Given the description of an element on the screen output the (x, y) to click on. 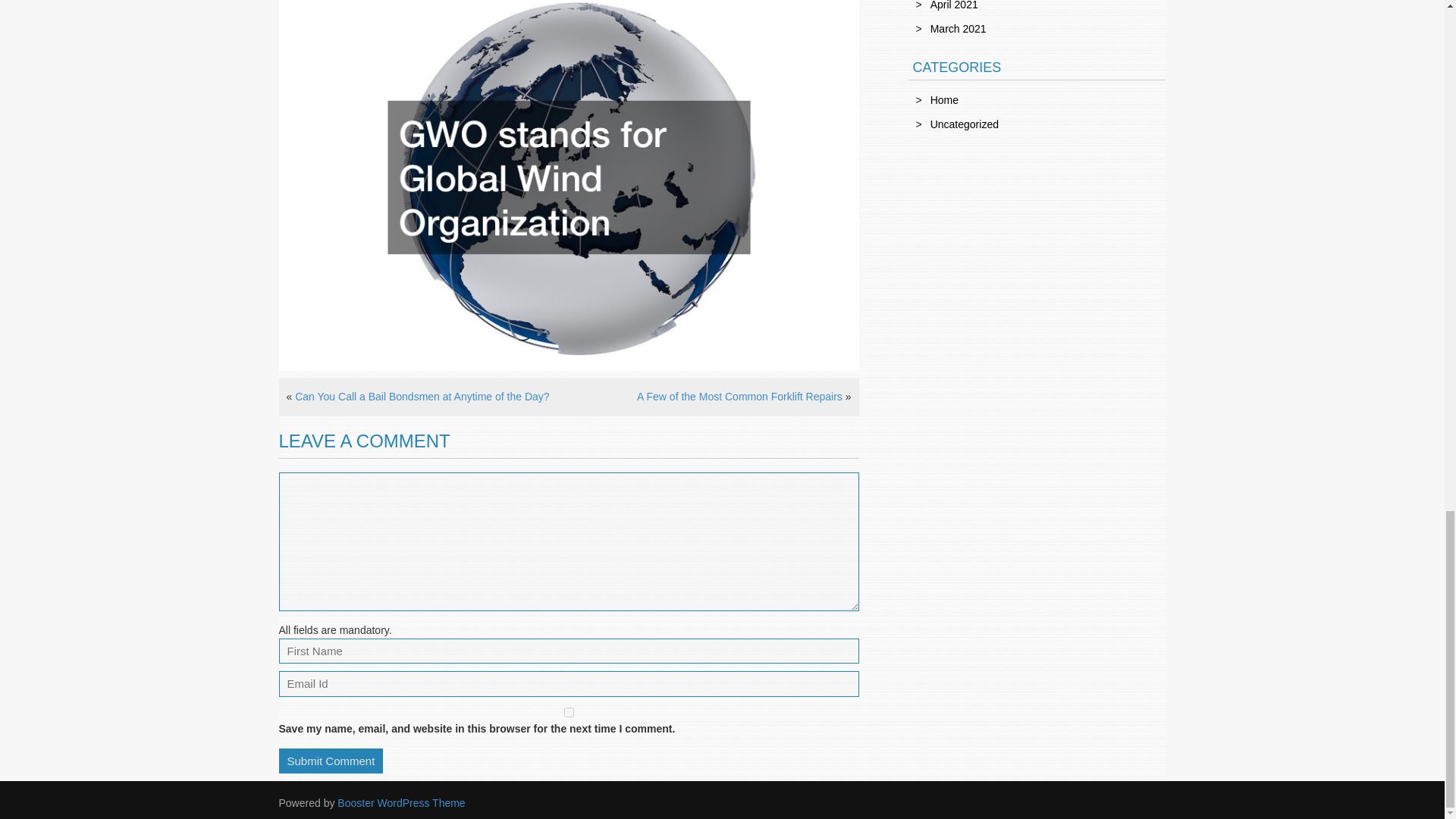
Submit Comment (331, 760)
yes (569, 712)
A Few of the Most Common Forklift Repairs (740, 396)
Submit Comment (331, 760)
Can You Call a Bail Bondsmen at Anytime of the Day? (421, 396)
